Given the description of an element on the screen output the (x, y) to click on. 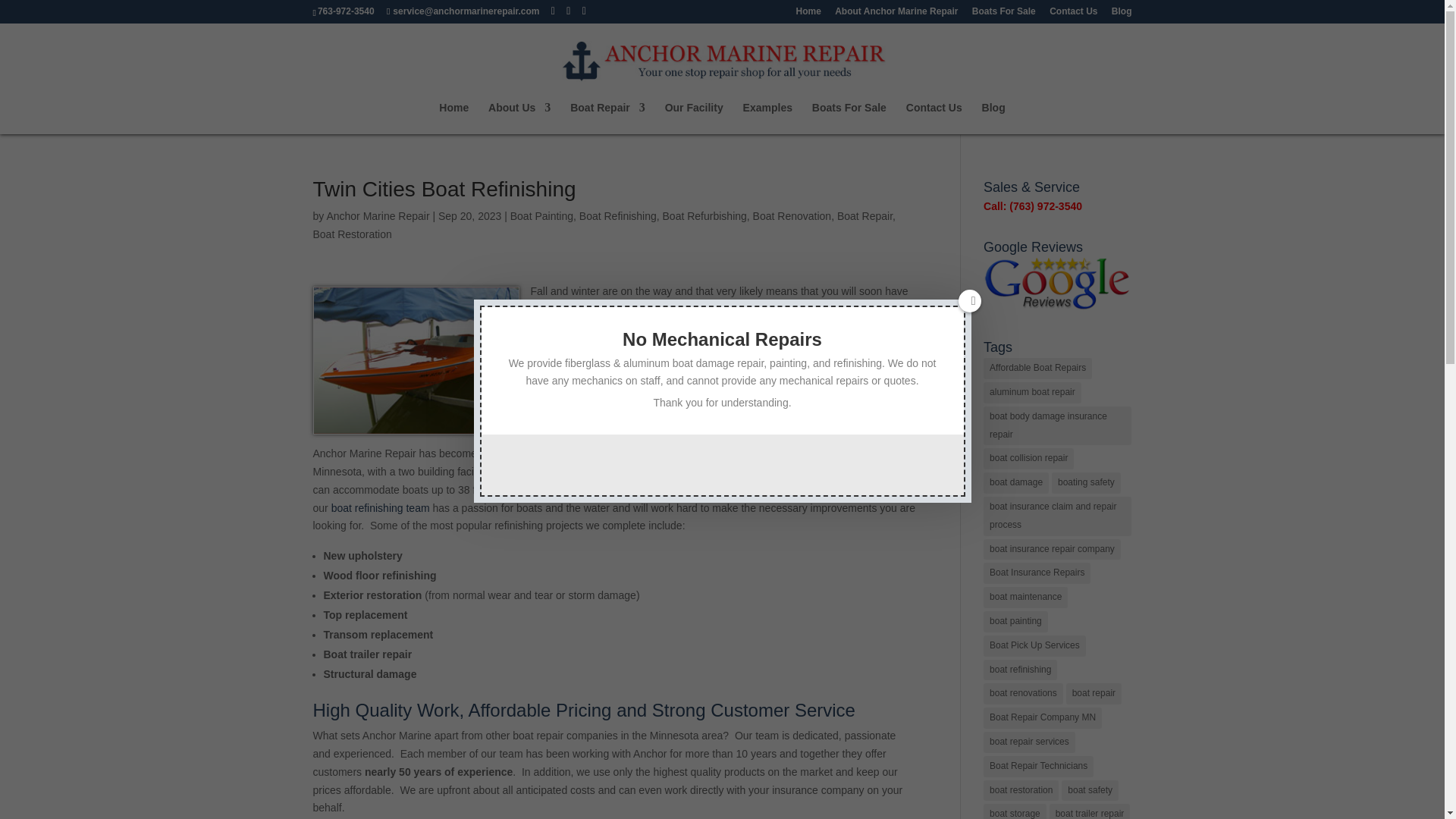
Home (808, 14)
Blog (1122, 14)
About Anchor Marine Repair (896, 14)
Boat Repair (607, 118)
Boats For Sale (1003, 14)
Contact Us (1073, 14)
Posts by Anchor Marine Repair (377, 215)
About Us (518, 118)
Home (453, 118)
